Given the description of an element on the screen output the (x, y) to click on. 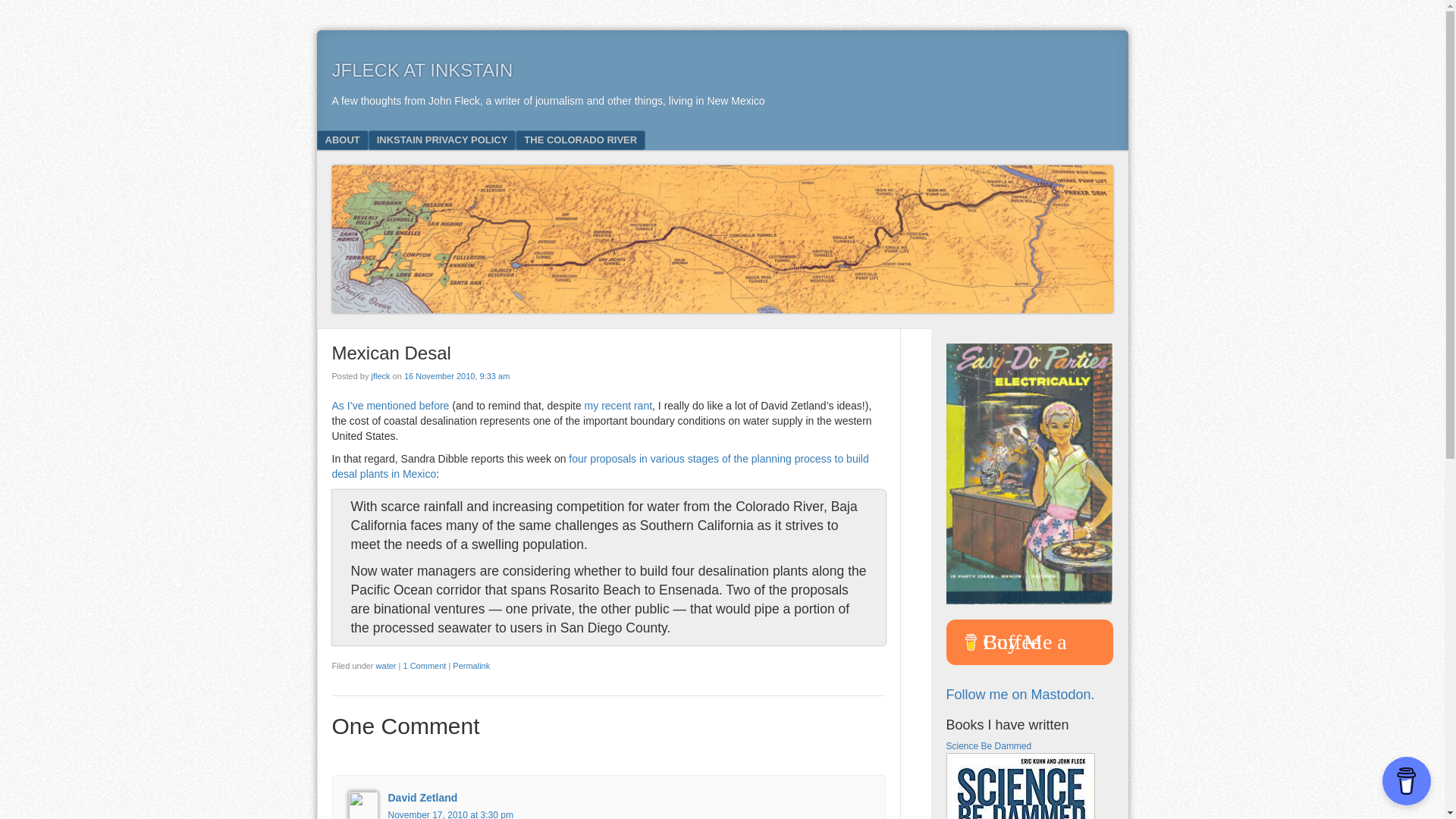
Permanent Link to Mexican Desal (470, 665)
THE COLORADO RIVER (580, 140)
David Zetland (423, 797)
1 Comment (424, 665)
16 November 2010, 9:33 am (456, 375)
Buy Me a Coffee (1029, 642)
INKSTAIN PRIVACY POLICY (442, 140)
ABOUT (342, 140)
Follow me on Mastodon. (1020, 694)
Search (33, 17)
Permalink (470, 665)
View all posts by jfleck (380, 375)
JFLECK AT INKSTAIN (422, 69)
Science Be Dammed (989, 746)
